Given the description of an element on the screen output the (x, y) to click on. 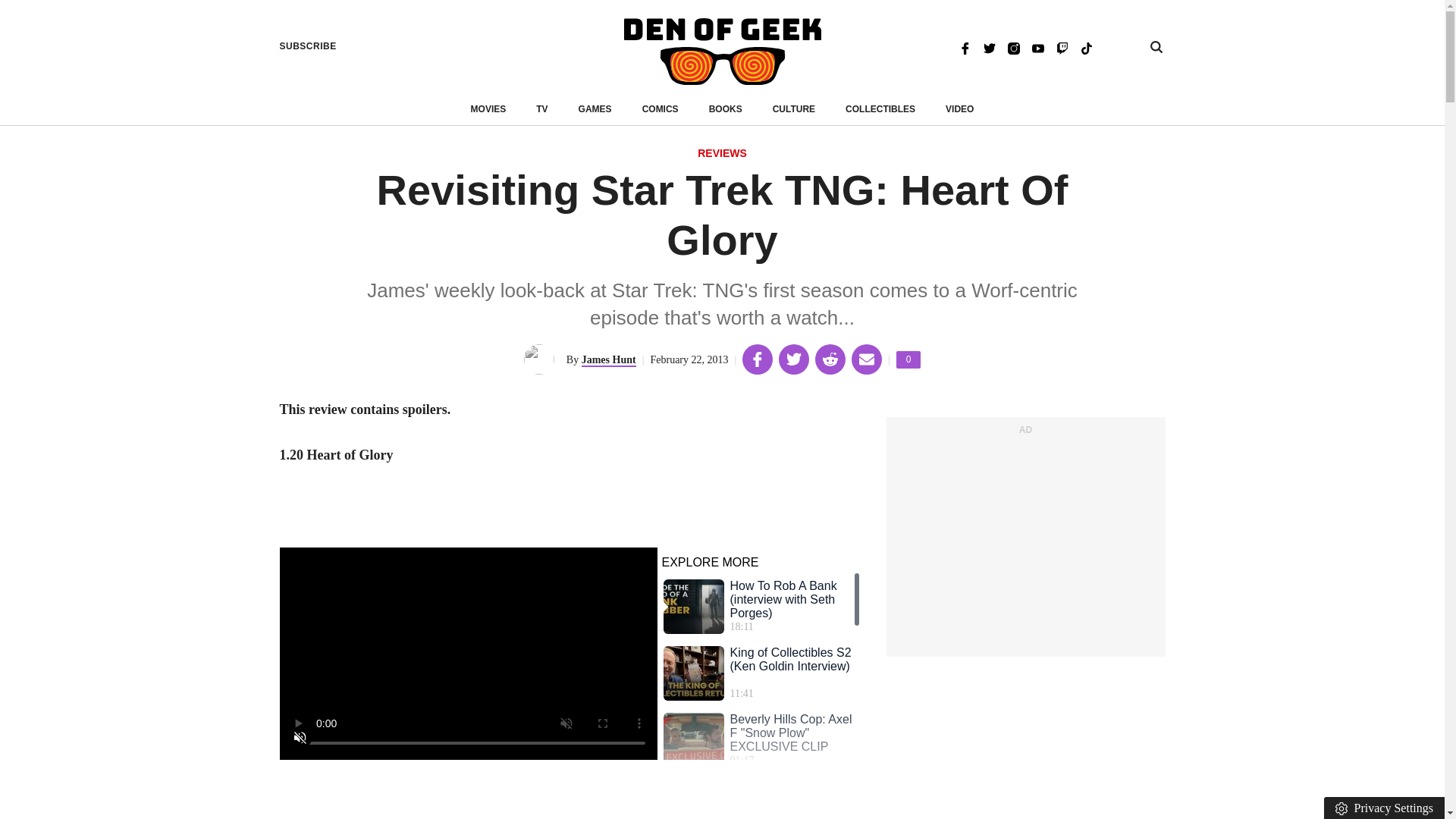
COLLECTIBLES (880, 109)
CULTURE (794, 109)
Twitter (988, 46)
BOOKS (725, 109)
VIDEO (908, 359)
SUBSCRIBE (959, 109)
Twitch (307, 46)
REVIEWS (1061, 46)
TikTok (721, 153)
Den of Geek (1085, 46)
COMICS (722, 52)
GAMES (660, 109)
Instagram (594, 109)
MOVIES (1013, 46)
